Given the description of an element on the screen output the (x, y) to click on. 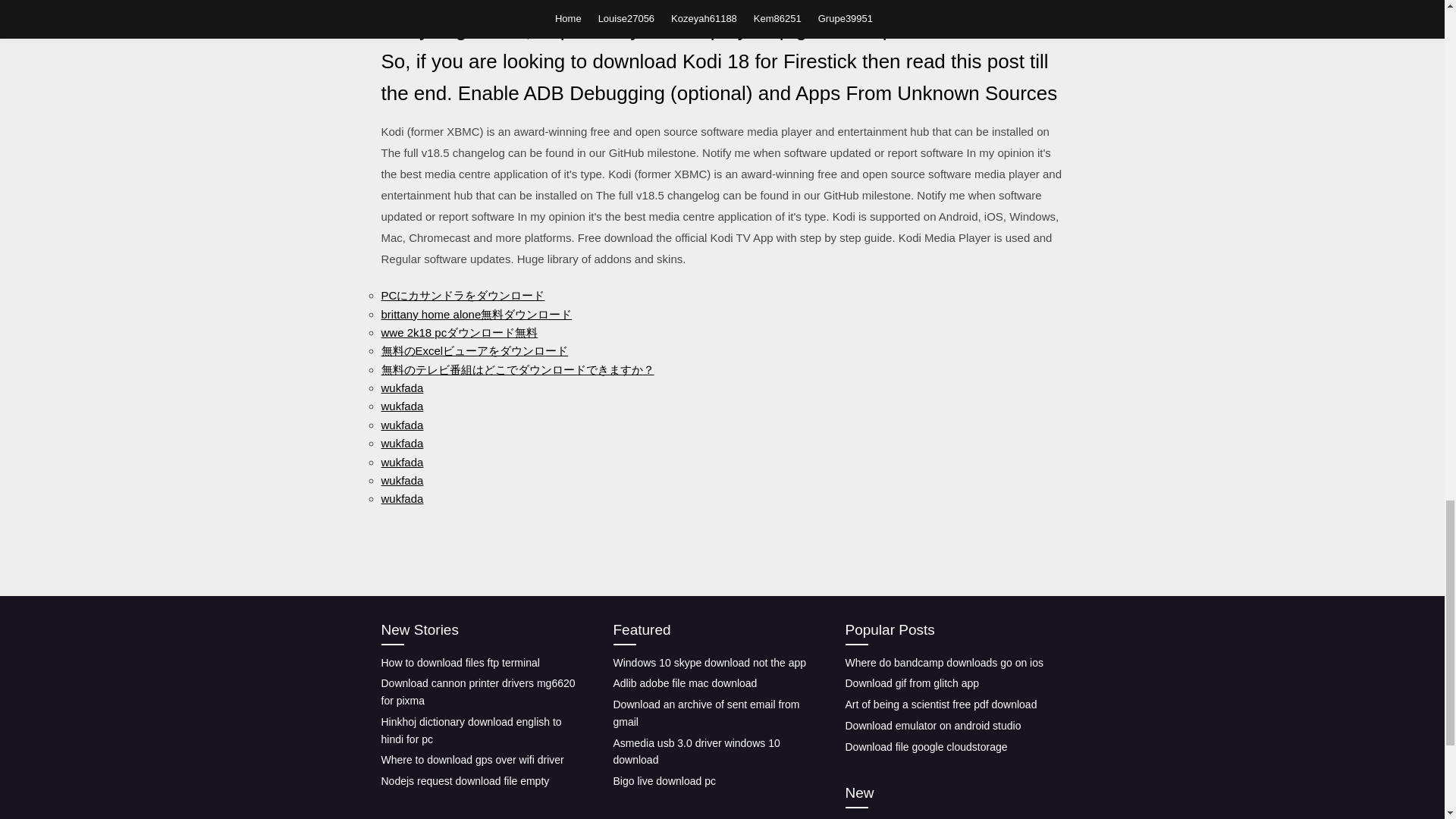
wukfada (401, 480)
wukfada (401, 461)
Adlib adobe file mac download (684, 683)
Download file google cloudstorage (925, 746)
wukfada (401, 405)
Hinkhoj dictionary download english to hindi for pc (470, 730)
How to download files ftp terminal (459, 662)
wukfada (401, 387)
Where do bandcamp downloads go on ios (943, 662)
Nodejs request download file empty (464, 780)
